Given the description of an element on the screen output the (x, y) to click on. 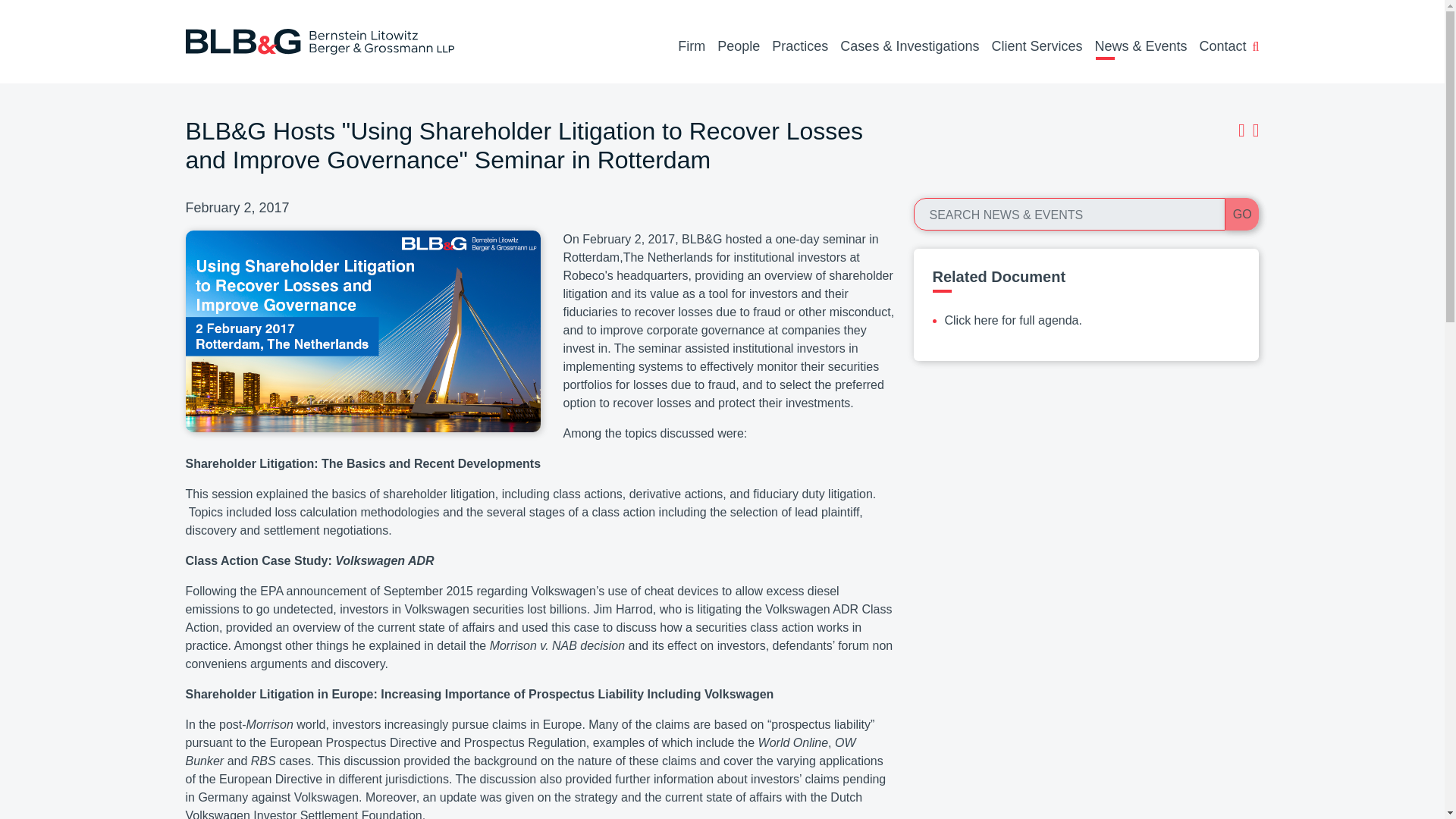
Firm (691, 47)
Contact (1222, 47)
People (738, 47)
Practices (799, 47)
Client Services (1036, 47)
